Given the description of an element on the screen output the (x, y) to click on. 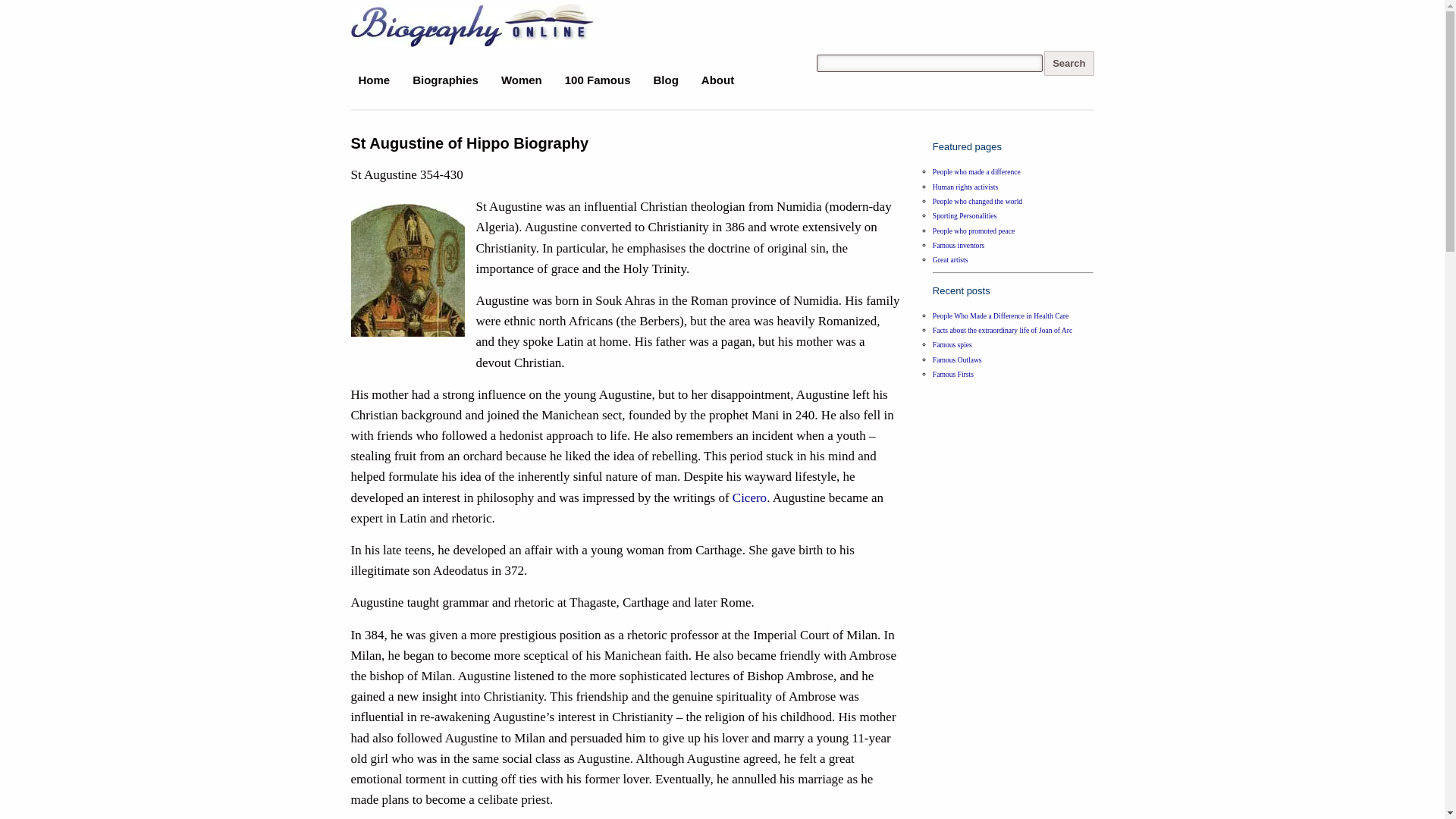
People who made a difference (976, 171)
Women (521, 79)
Human rights activists (965, 186)
Biographies (445, 79)
Blog (665, 79)
Search (1068, 63)
Cicero (749, 497)
Biography Online (426, 23)
Search (1068, 63)
People who changed the world (977, 201)
100 Famous (598, 79)
Home (373, 79)
About (717, 79)
